Given the description of an element on the screen output the (x, y) to click on. 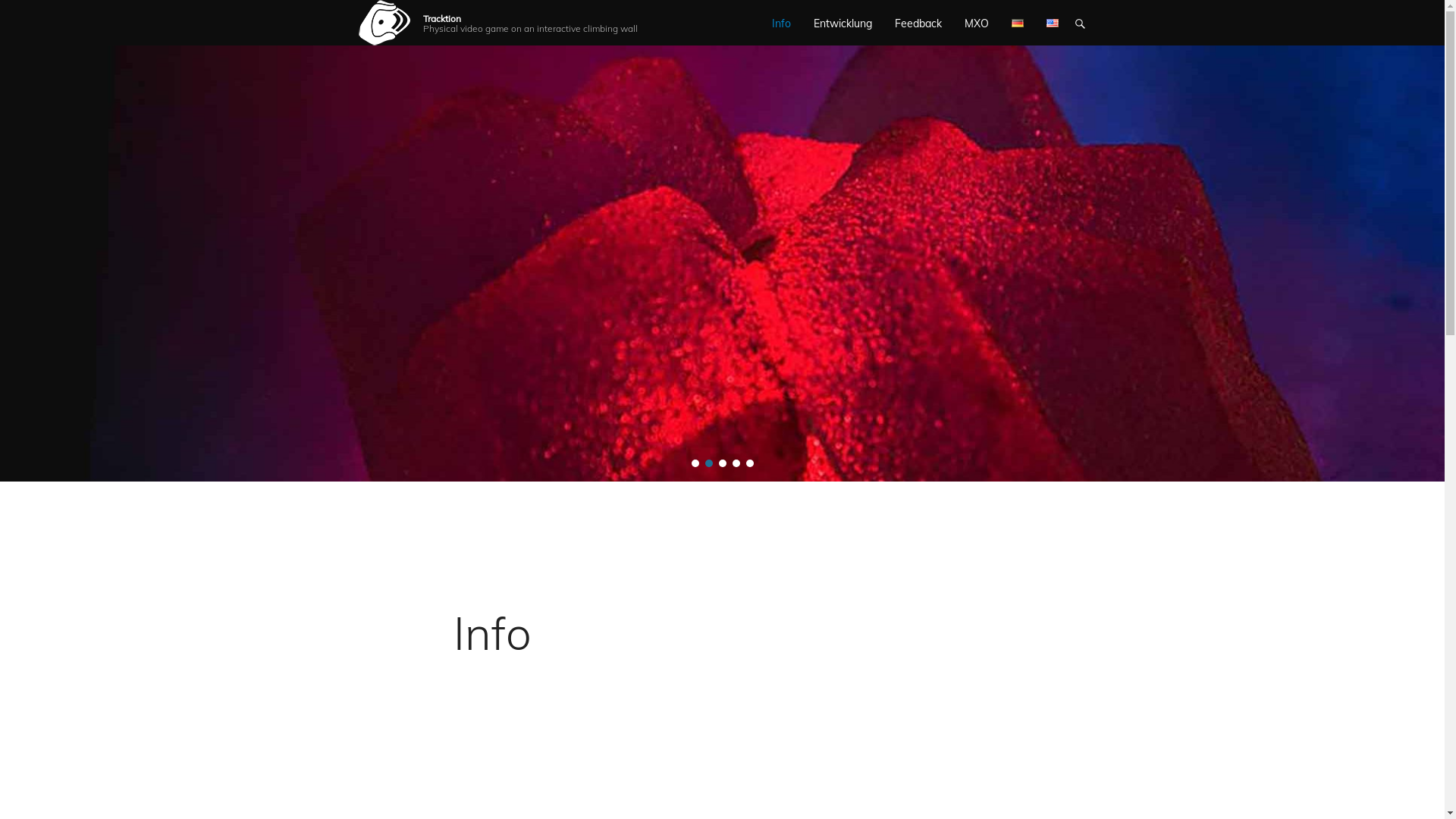
1 Element type: text (695, 463)
Info Element type: text (781, 22)
Feedback Element type: text (918, 22)
Permalink to slider_4 Element type: hover (722, 255)
2 Element type: text (708, 463)
English Element type: hover (1052, 22)
Tracktion Element type: text (442, 18)
Info Element type: text (492, 632)
5 Element type: text (749, 463)
Entwicklung Element type: text (841, 22)
MXO Element type: text (976, 22)
Deutsch Element type: hover (1017, 22)
3 Element type: text (722, 463)
4 Element type: text (736, 463)
